Given the description of an element on the screen output the (x, y) to click on. 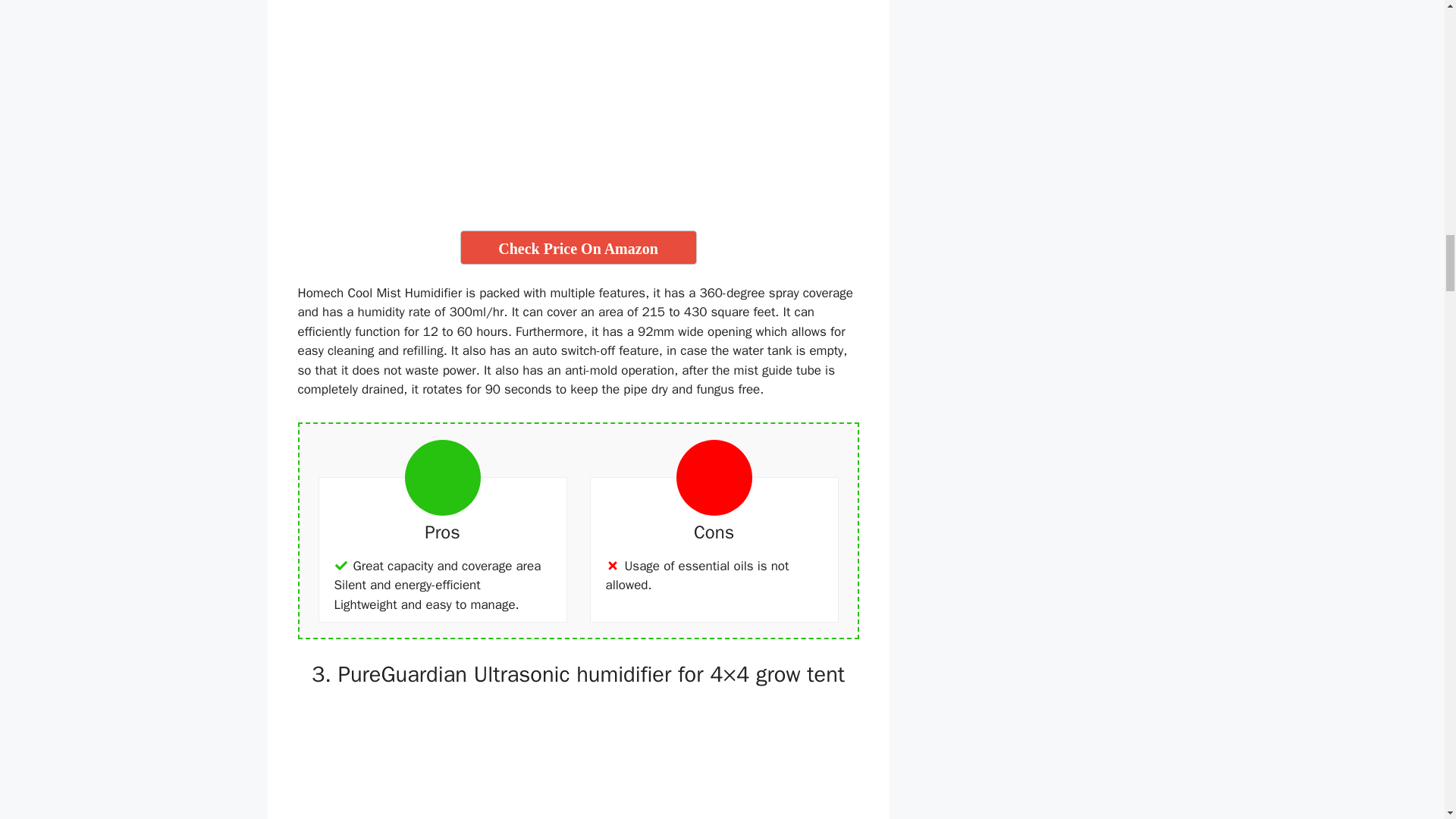
Check Price On Amazon (578, 246)
